Given the description of an element on the screen output the (x, y) to click on. 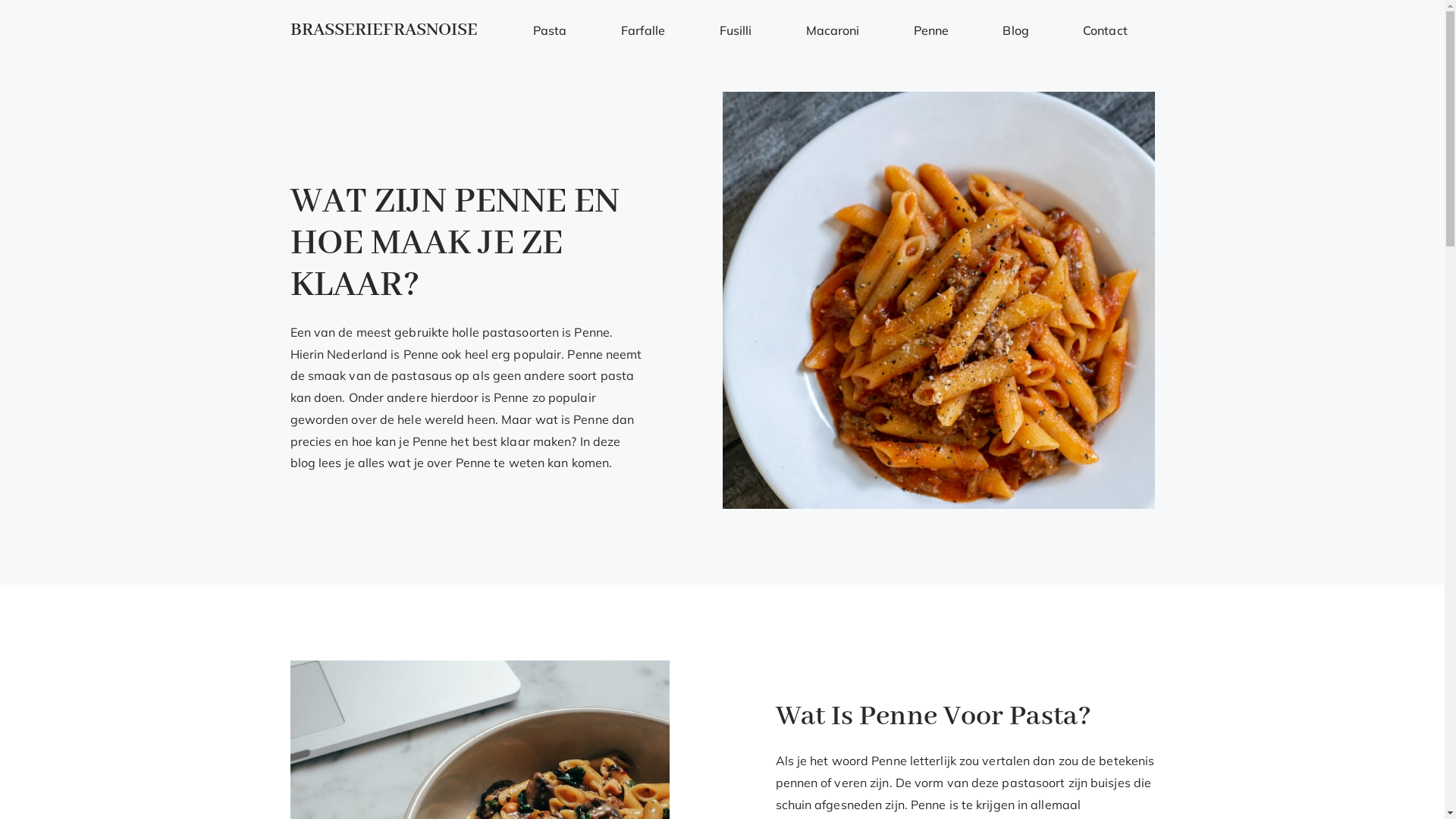
Blog Element type: text (1015, 29)
Pasta Element type: text (550, 29)
Penne Element type: text (930, 29)
Contact Element type: text (1104, 29)
Fusilli Element type: text (735, 29)
Macaroni Element type: text (832, 29)
Farfalle Element type: text (642, 29)
BRASSERIEFRASNOISE Element type: text (383, 29)
